Given the description of an element on the screen output the (x, y) to click on. 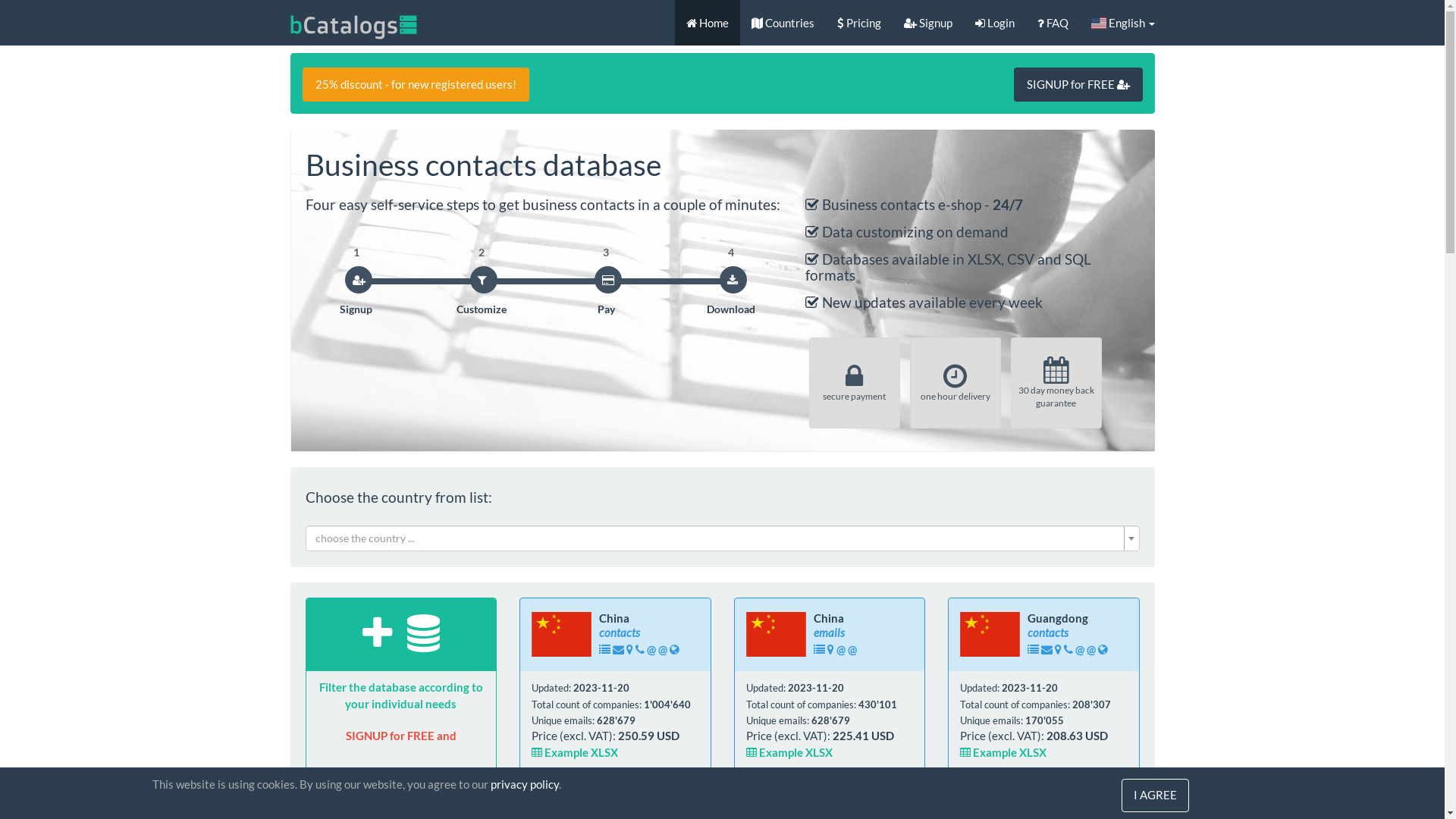
privacy policy Element type: text (523, 783)
I AGREE Element type: text (1155, 794)
Details Element type: text (776, 789)
Home Element type: text (707, 22)
Pricing Element type: text (858, 22)
Example XLSX Element type: text (574, 752)
secure payment Element type: text (854, 382)
Example XLSX Element type: text (1003, 752)
SIGNUP for FREE Element type: text (1077, 84)
Pay Element type: text (606, 308)
Create own database Element type: text (401, 789)
Details Element type: text (990, 789)
Signup Element type: text (355, 308)
one hour delivery Element type: text (955, 382)
Countries Element type: text (782, 22)
25% discount - for new registered users! Element type: text (414, 84)
Download Element type: text (730, 308)
30 day money back guarantee Element type: text (1055, 382)
Details Element type: text (562, 789)
Example XLSX Element type: text (789, 752)
Login Element type: text (994, 22)
Add to cart Element type: text (1061, 789)
FAQ Element type: text (1052, 22)
Add to cart Element type: text (847, 789)
English Element type: text (1122, 22)
Customize Element type: text (481, 308)
Signup Element type: text (927, 22)
Add to cart Element type: text (633, 789)
